Given the description of an element on the screen output the (x, y) to click on. 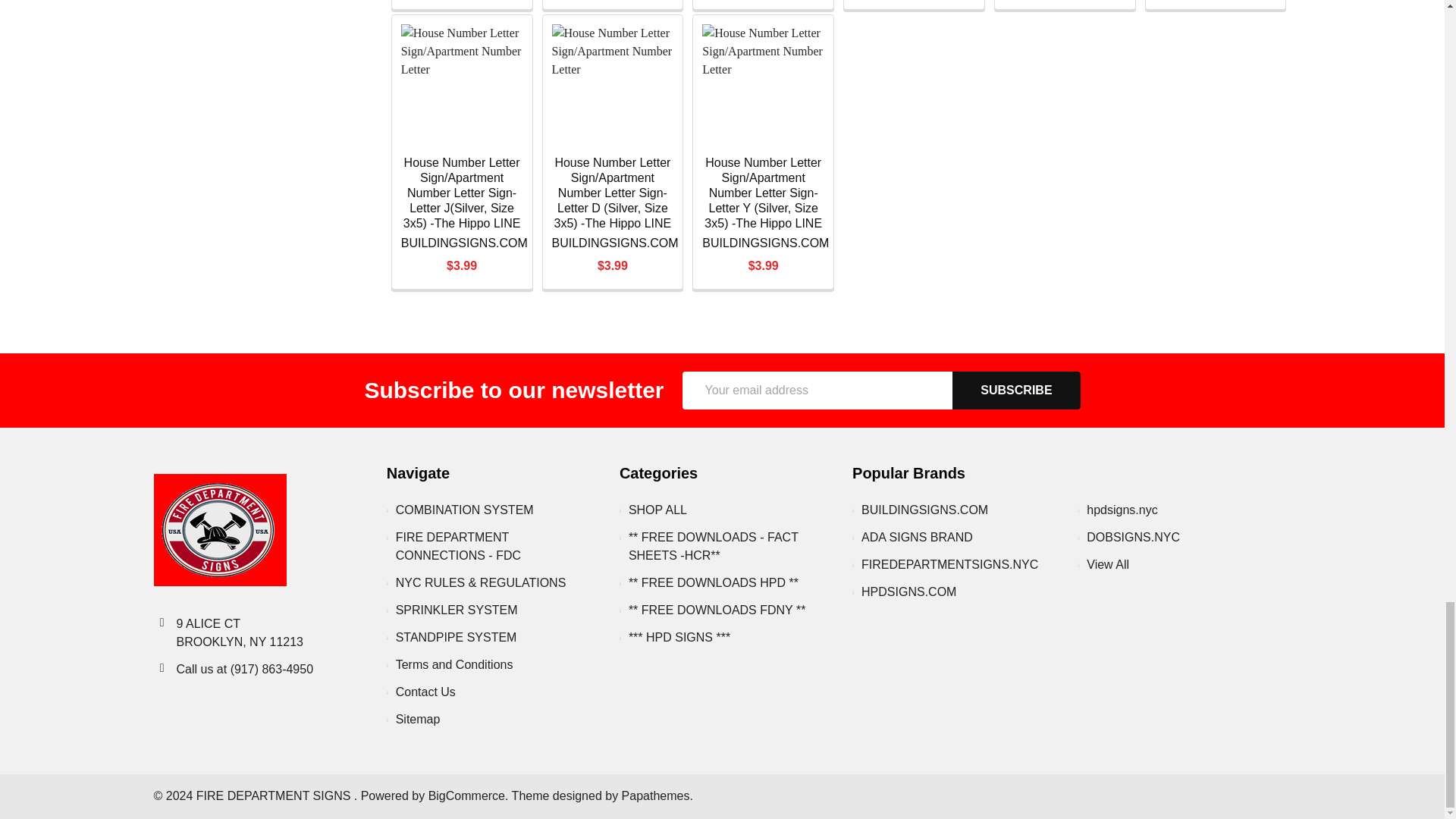
Subscribe (1016, 390)
